Given the description of an element on the screen output the (x, y) to click on. 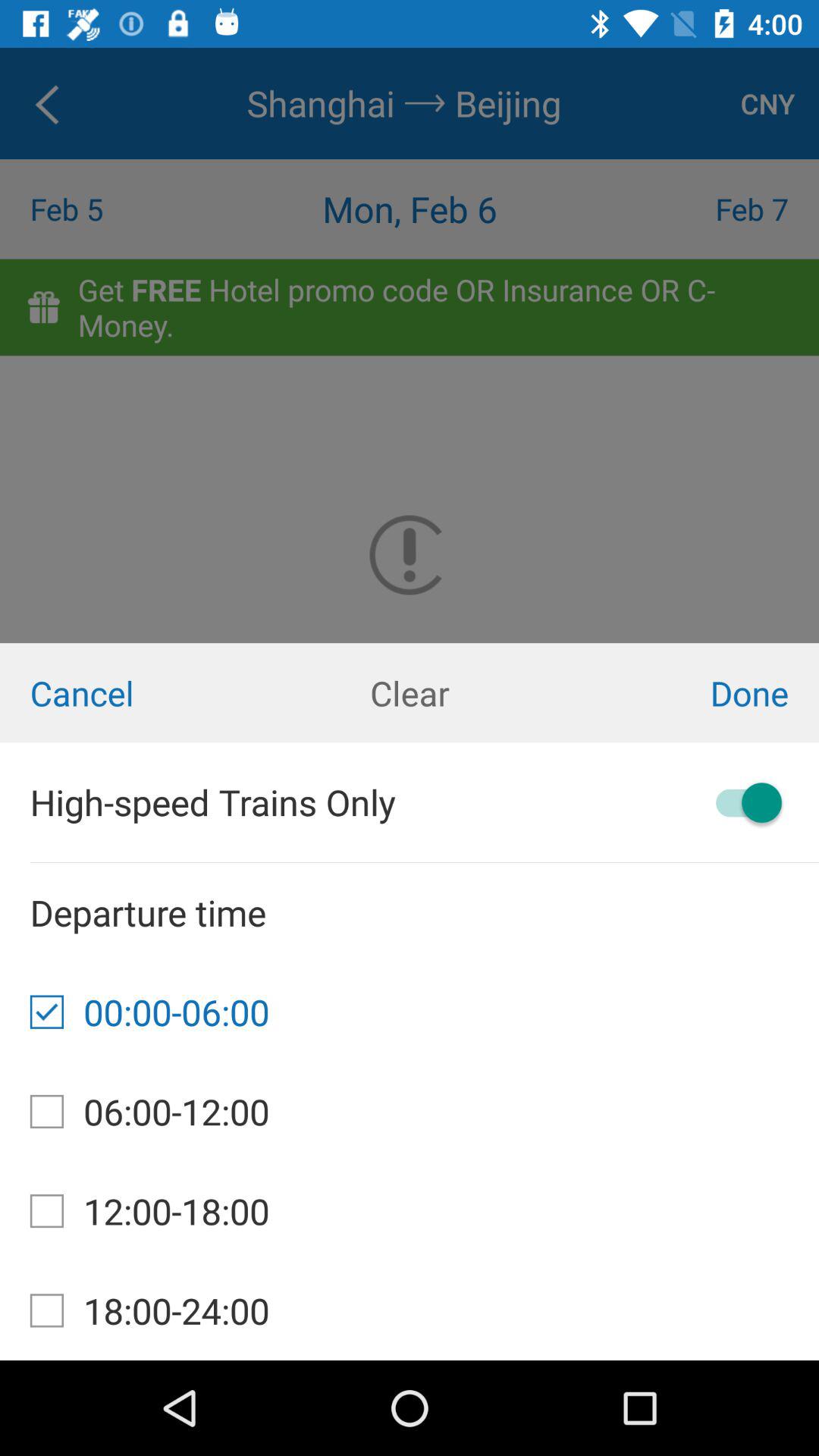
choose icon to the right of the cancel item (409, 692)
